Given the description of an element on the screen output the (x, y) to click on. 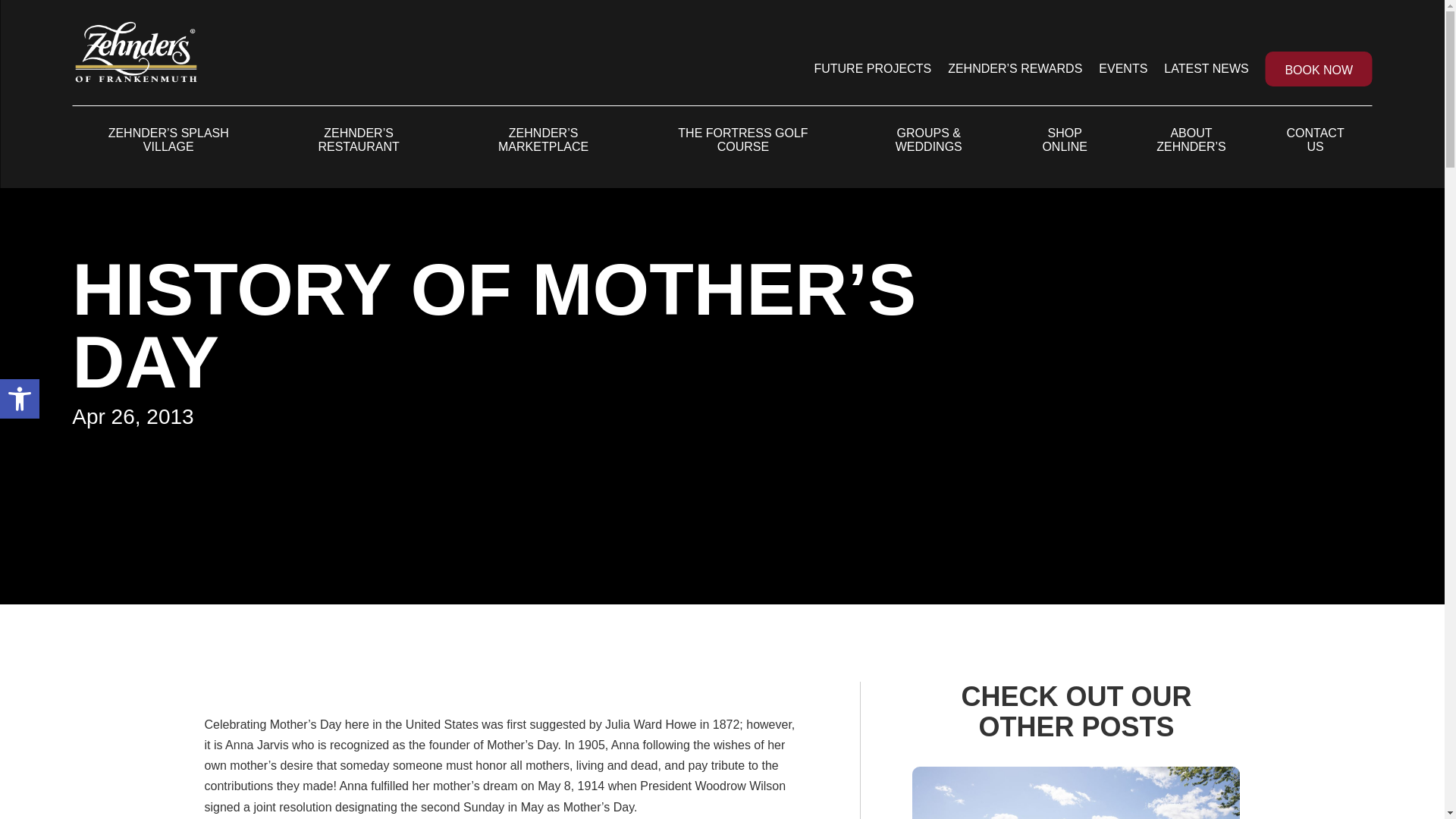
LATEST NEWS (1205, 68)
BOOK NOW (1319, 68)
Accessibility Tools (19, 398)
FUTURE PROJECTS (19, 398)
Accessibility Tools (872, 68)
EVENTS (19, 398)
